Given the description of an element on the screen output the (x, y) to click on. 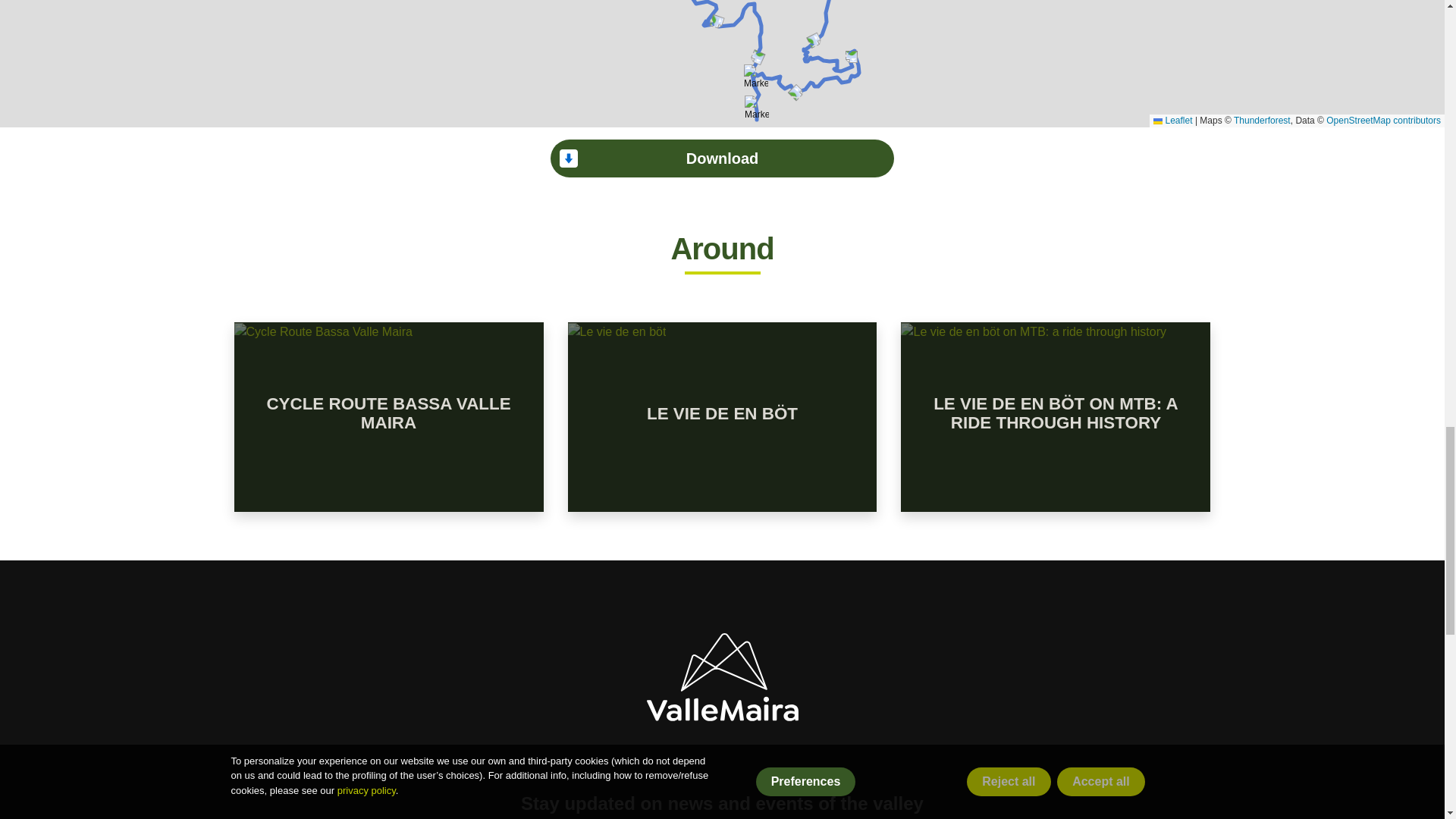
A JavaScript library for interactive maps (1172, 120)
Cycle Route Bassa Valle Maira (323, 331)
Arrivo (756, 76)
Partenza (756, 107)
